Given the description of an element on the screen output the (x, y) to click on. 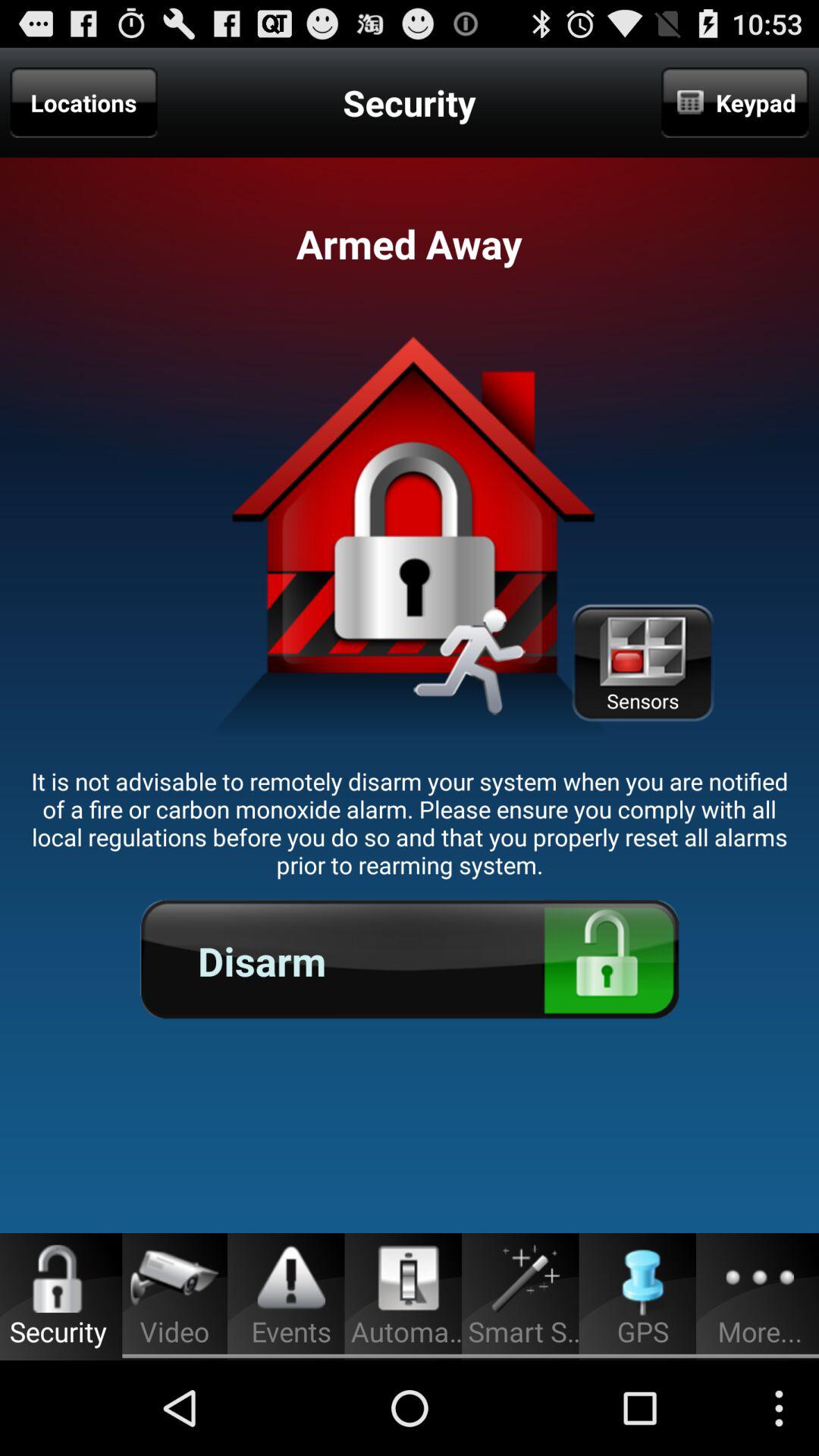
turn off the keypad (734, 102)
